Given the description of an element on the screen output the (x, y) to click on. 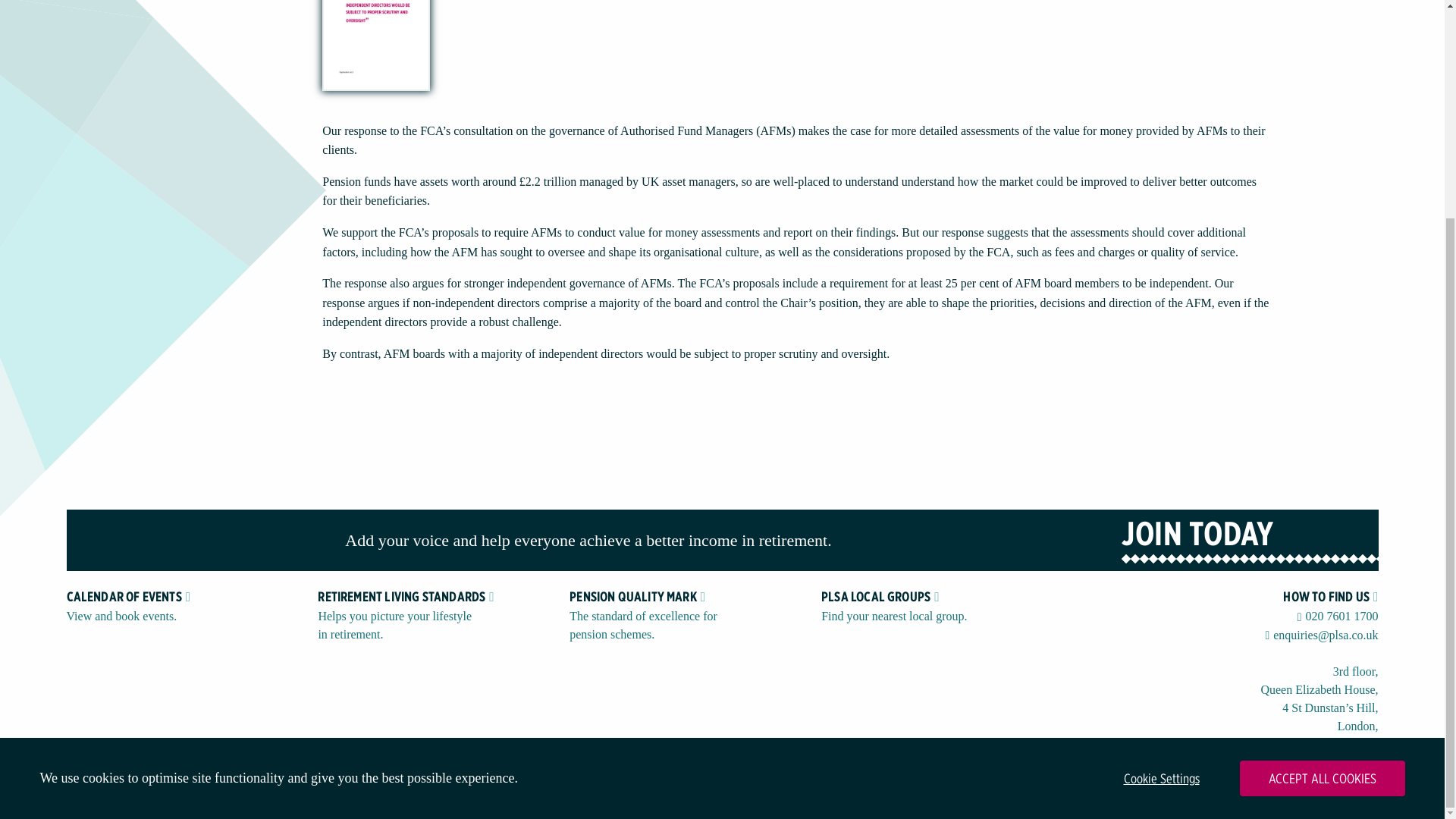
Cookie Settings (1161, 490)
ACCEPT ALL COOKIES (1322, 490)
